Given the description of an element on the screen output the (x, y) to click on. 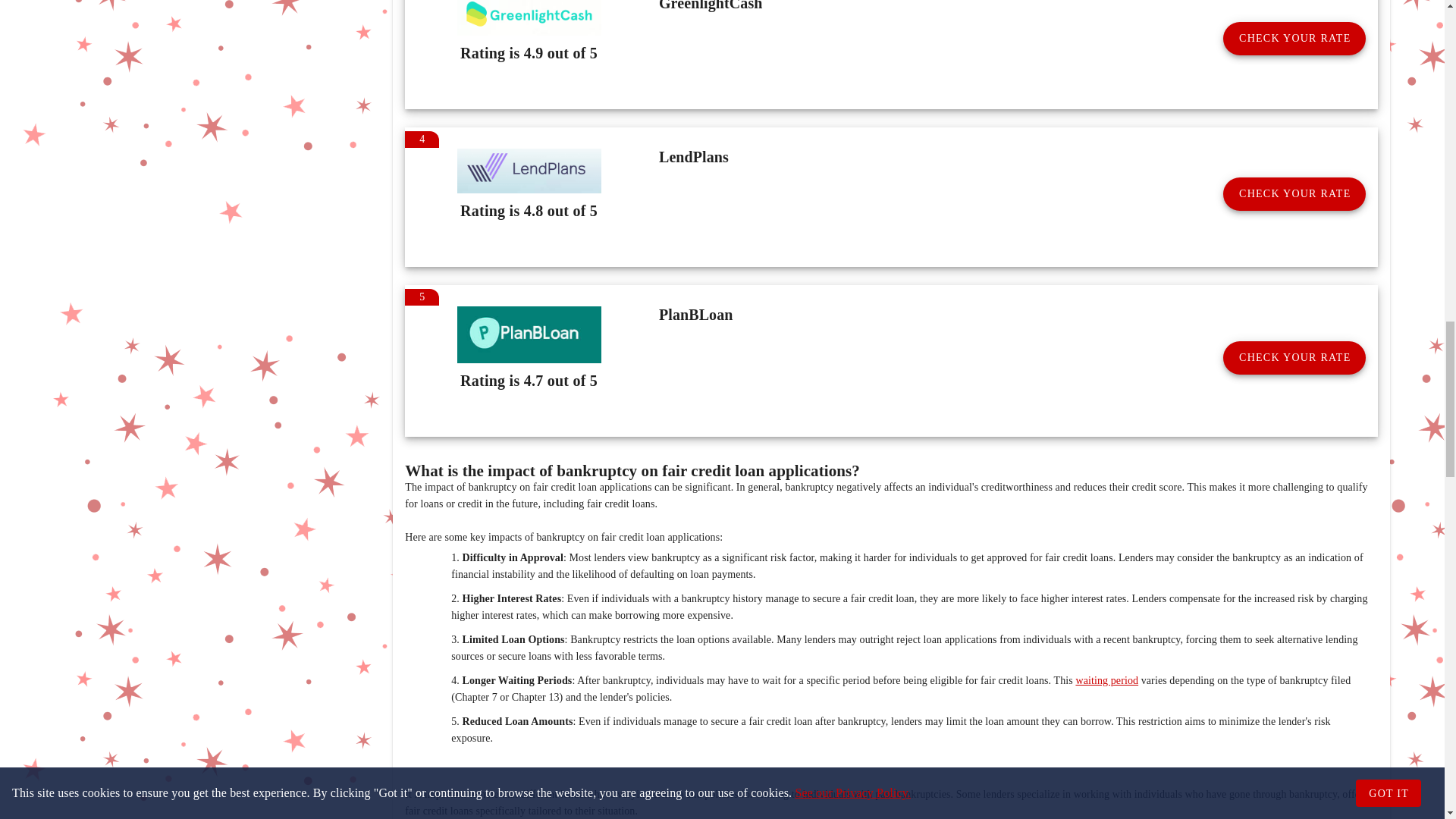
CHECK YOUR RATE (1294, 193)
CHECK YOUR RATE (1294, 357)
CHECK YOUR RATE (1294, 38)
waiting period (1106, 680)
